Given the description of an element on the screen output the (x, y) to click on. 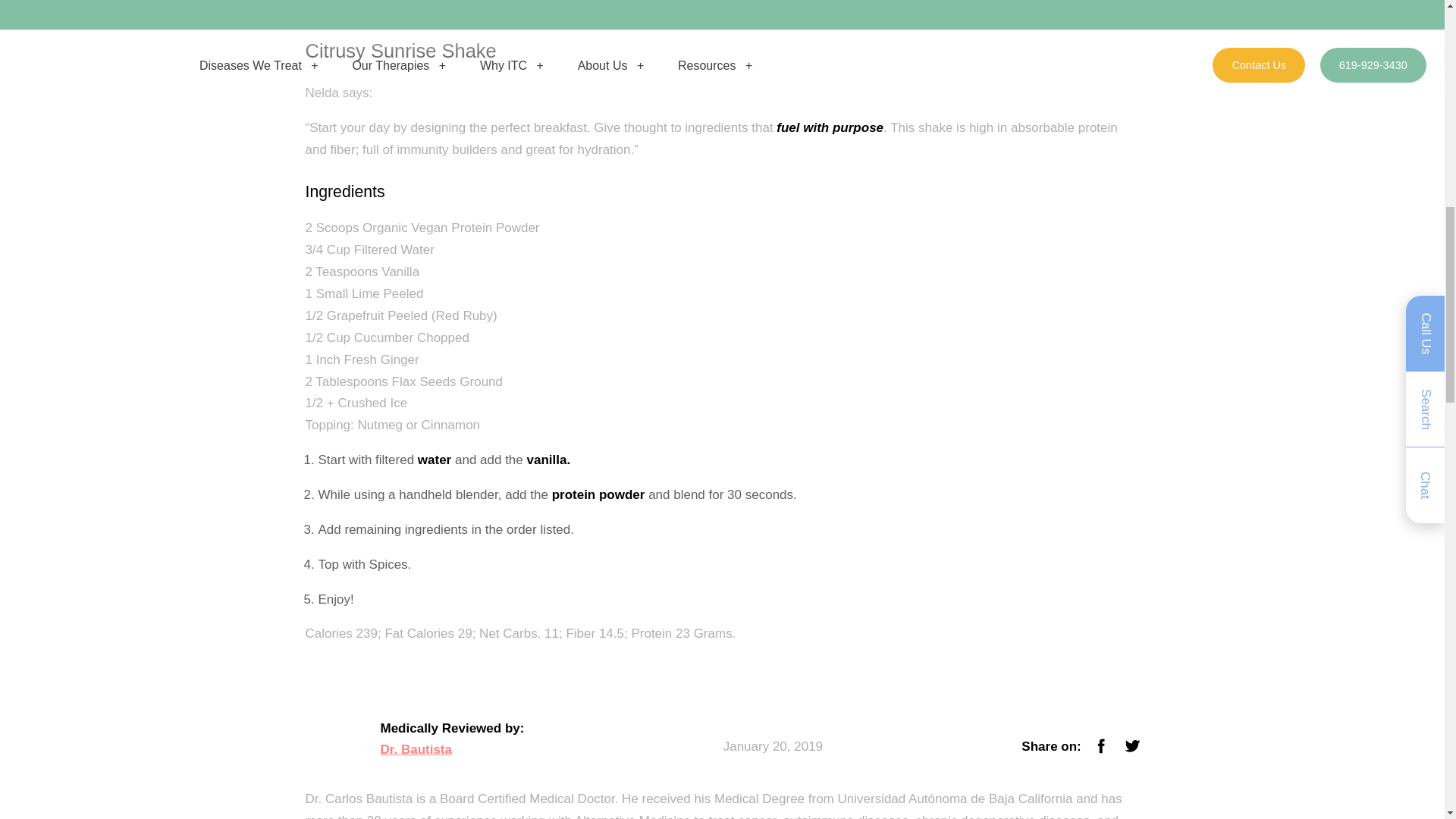
Dr. Bautista (415, 750)
